Given the description of an element on the screen output the (x, y) to click on. 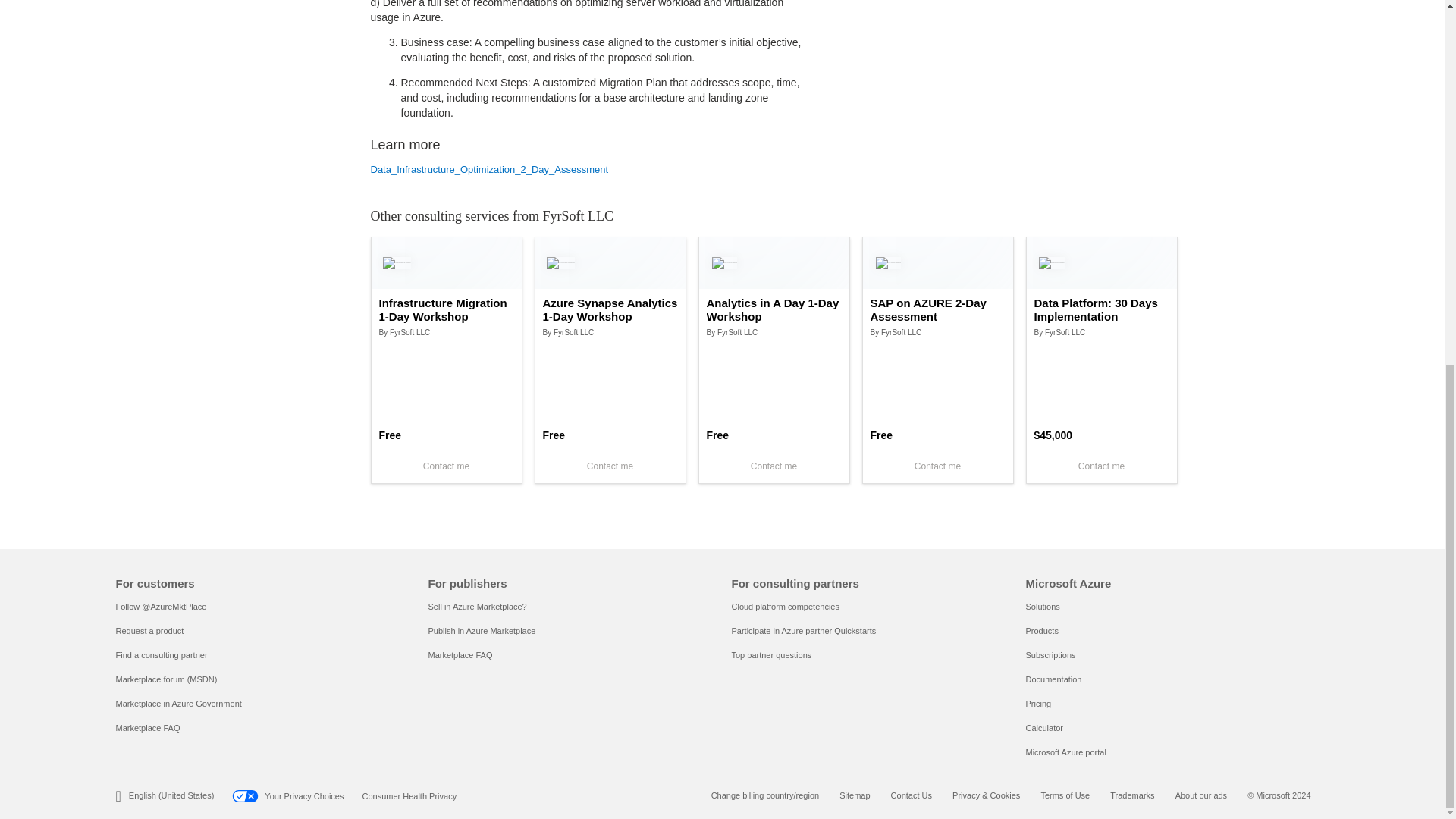
Infrastructure Migration 1-Day Workshop (445, 309)
Analytics in A Day 1-Day Workshop (773, 309)
SAP on AZURE 2-Day Assessment (938, 309)
Data Platform: 30 Days Implementation (1101, 309)
Azure Synapse Analytics 1-Day Workshop (610, 309)
